Given the description of an element on the screen output the (x, y) to click on. 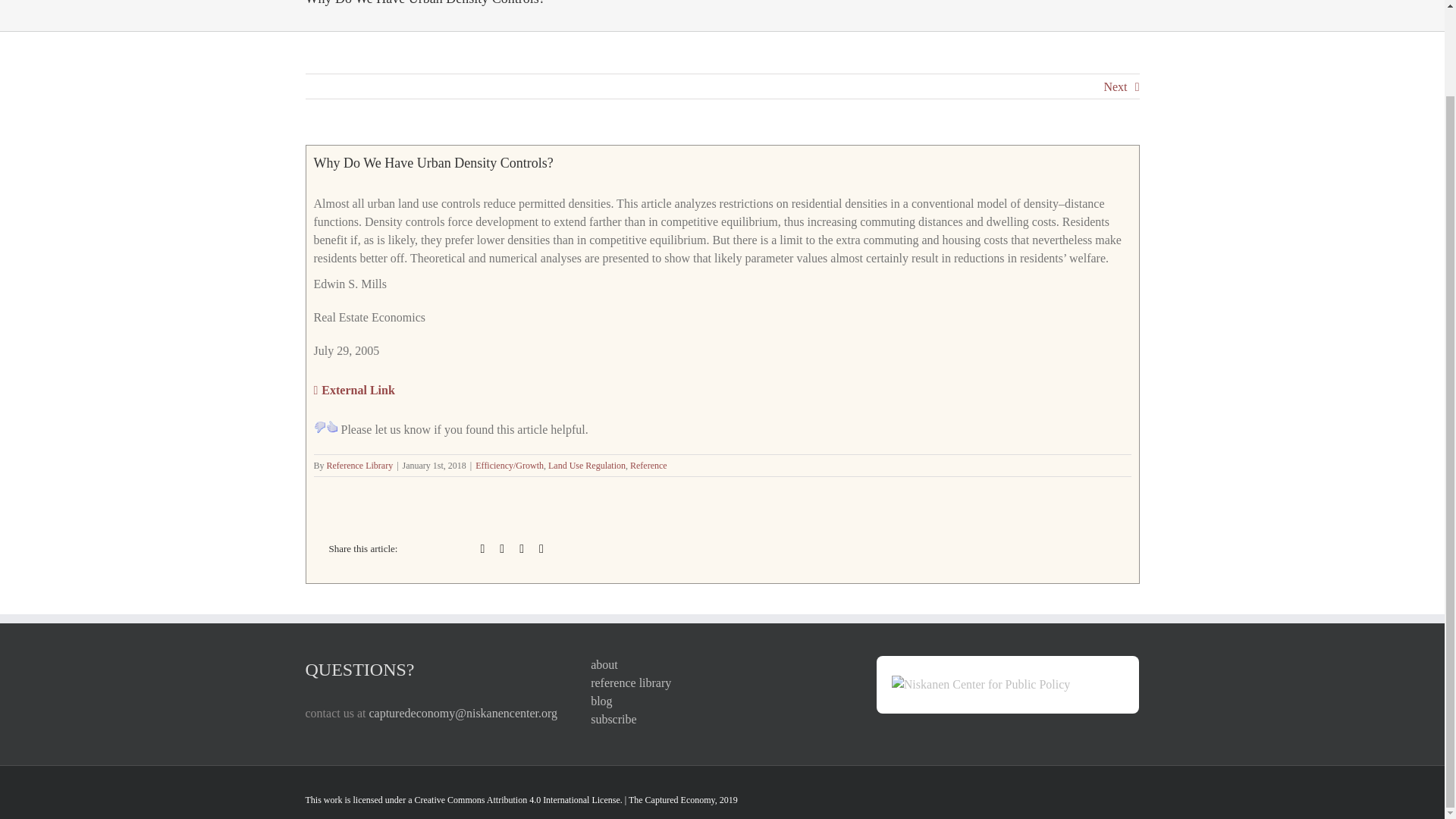
subscribe (722, 719)
This was helpful. (331, 426)
Why Do We Have Urban Density Controls? (354, 390)
blog (722, 701)
Posts by Reference Library (359, 465)
Creative Commons Attribution 4.0 International License (516, 799)
I didn't find this helpful. (320, 426)
reference library (722, 683)
Land Use Regulation (587, 465)
Next (1114, 86)
